Given the description of an element on the screen output the (x, y) to click on. 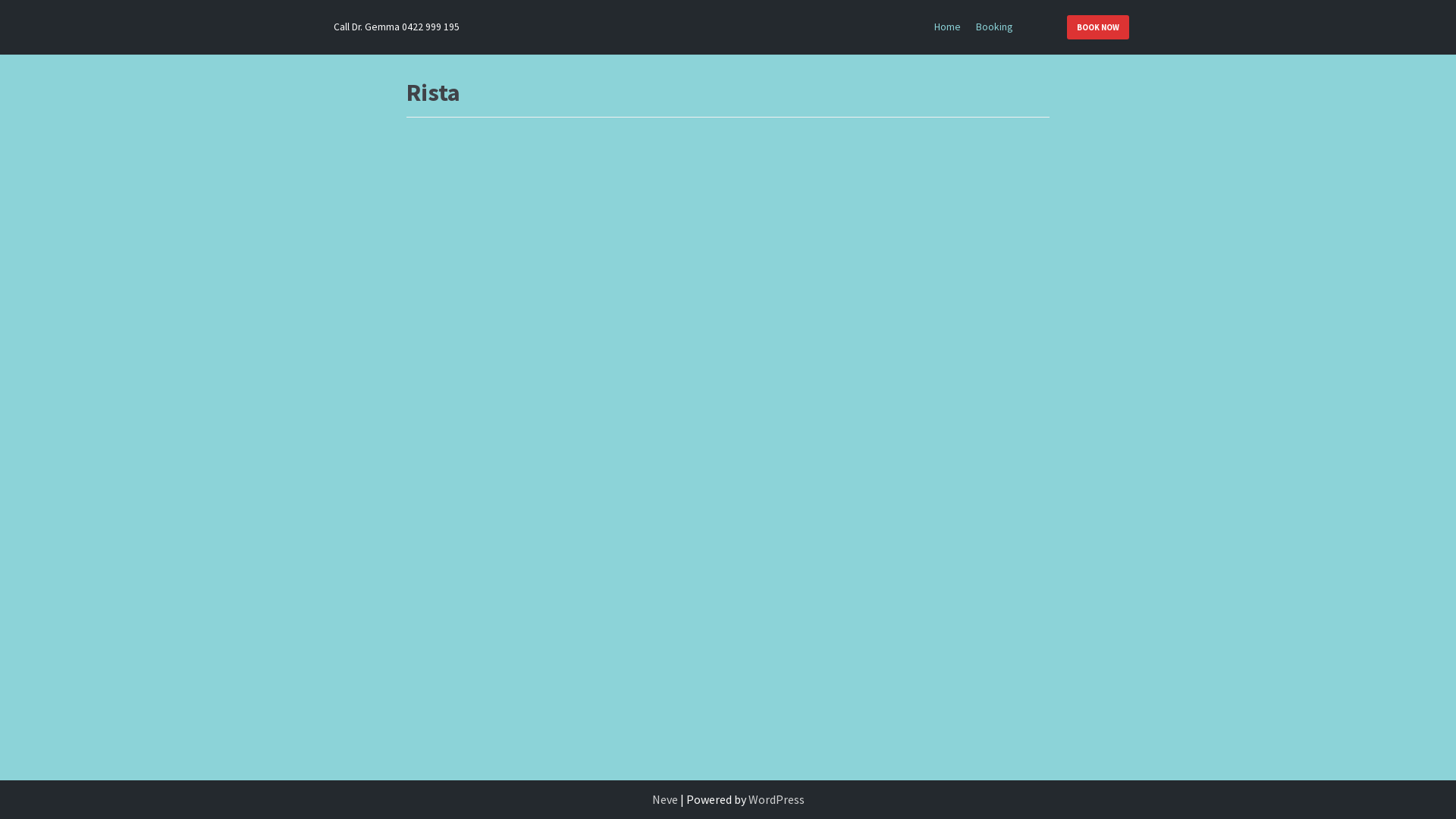
0422 999 195 Element type: text (430, 26)
Neve Element type: text (664, 798)
BOOK NOW Element type: text (1097, 27)
WordPress Element type: text (775, 798)
Home Element type: text (947, 27)
Skip to content Element type: text (15, 7)
Booking Element type: text (993, 27)
